Given the description of an element on the screen output the (x, y) to click on. 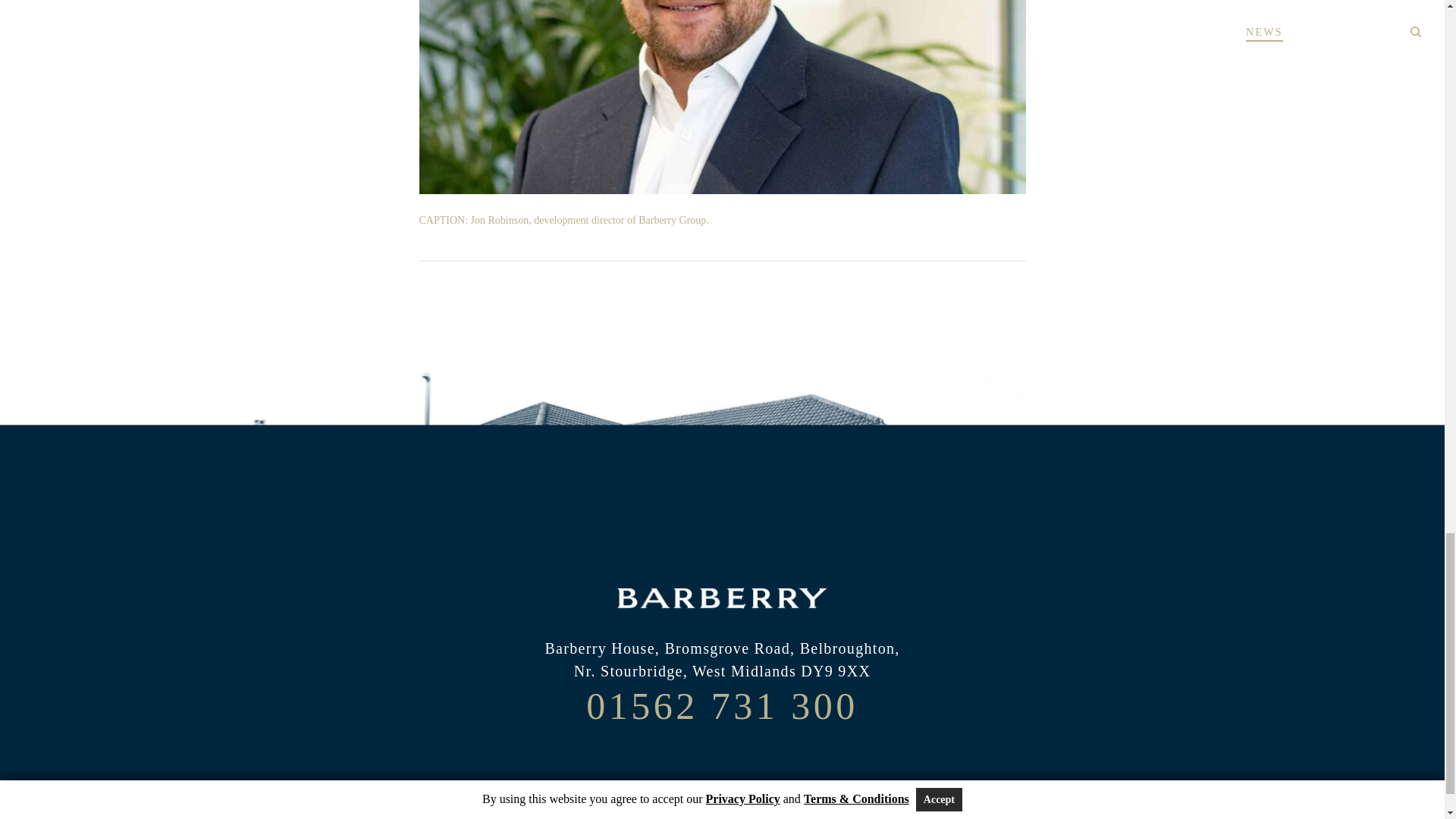
LINKEDIN (722, 763)
01562 731 300 (722, 705)
01562 731 300 (722, 705)
barberry-footer-logo (722, 598)
